Given the description of an element on the screen output the (x, y) to click on. 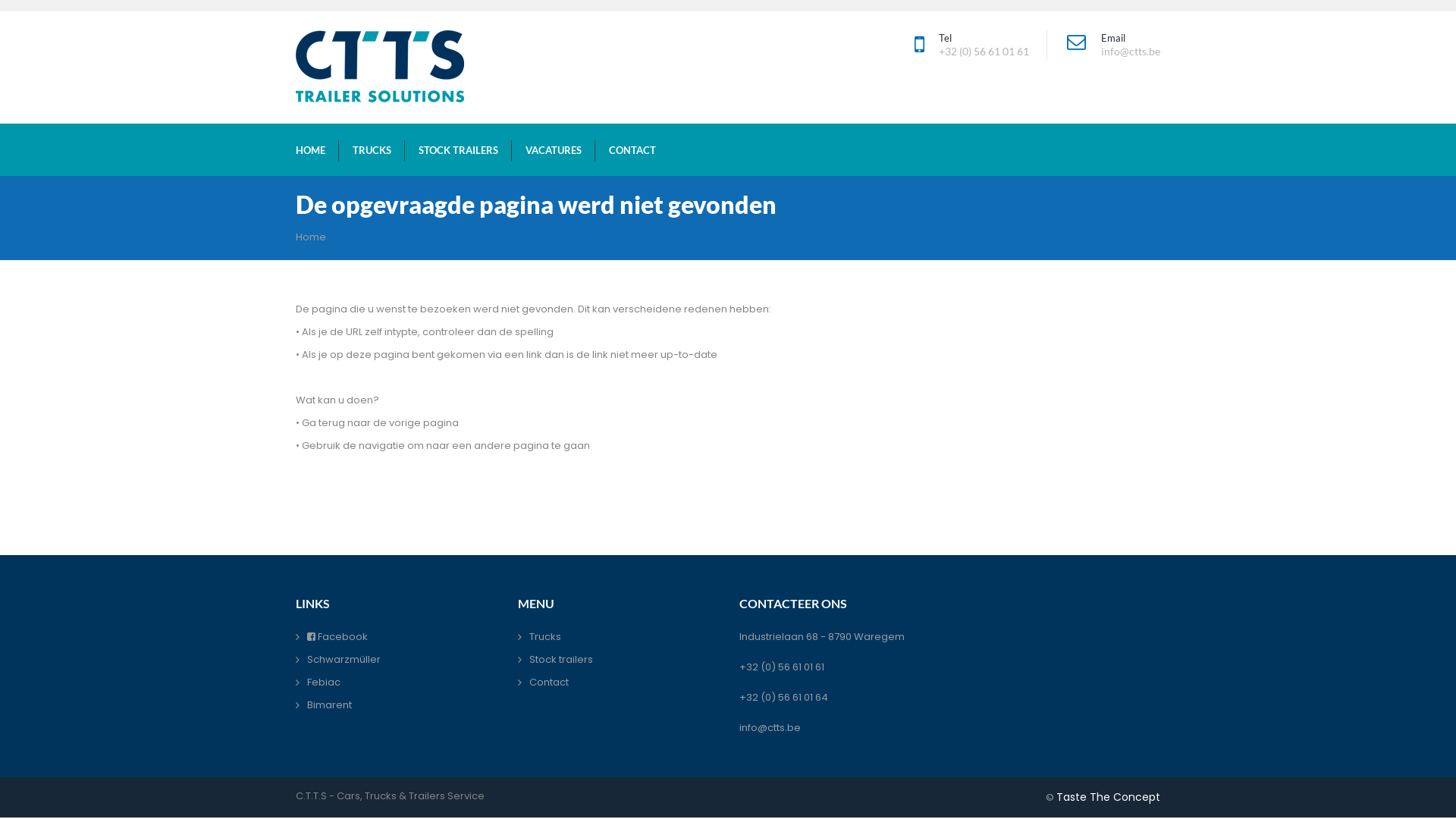
Contact Element type: text (548, 681)
HOME Element type: text (310, 149)
info@ctts.be Element type: text (769, 727)
TRUCKS Element type: text (371, 149)
Trucks Element type: text (545, 636)
Bimarent Element type: text (329, 704)
Stock trailers Element type: text (561, 659)
VACATURES Element type: text (553, 149)
STOCK TRAILERS Element type: text (458, 149)
Home Element type: text (310, 237)
Facebook Element type: text (337, 636)
Febiac Element type: text (323, 681)
Taste The Concept Element type: text (1108, 796)
CONTACT Element type: text (631, 149)
